Given the description of an element on the screen output the (x, y) to click on. 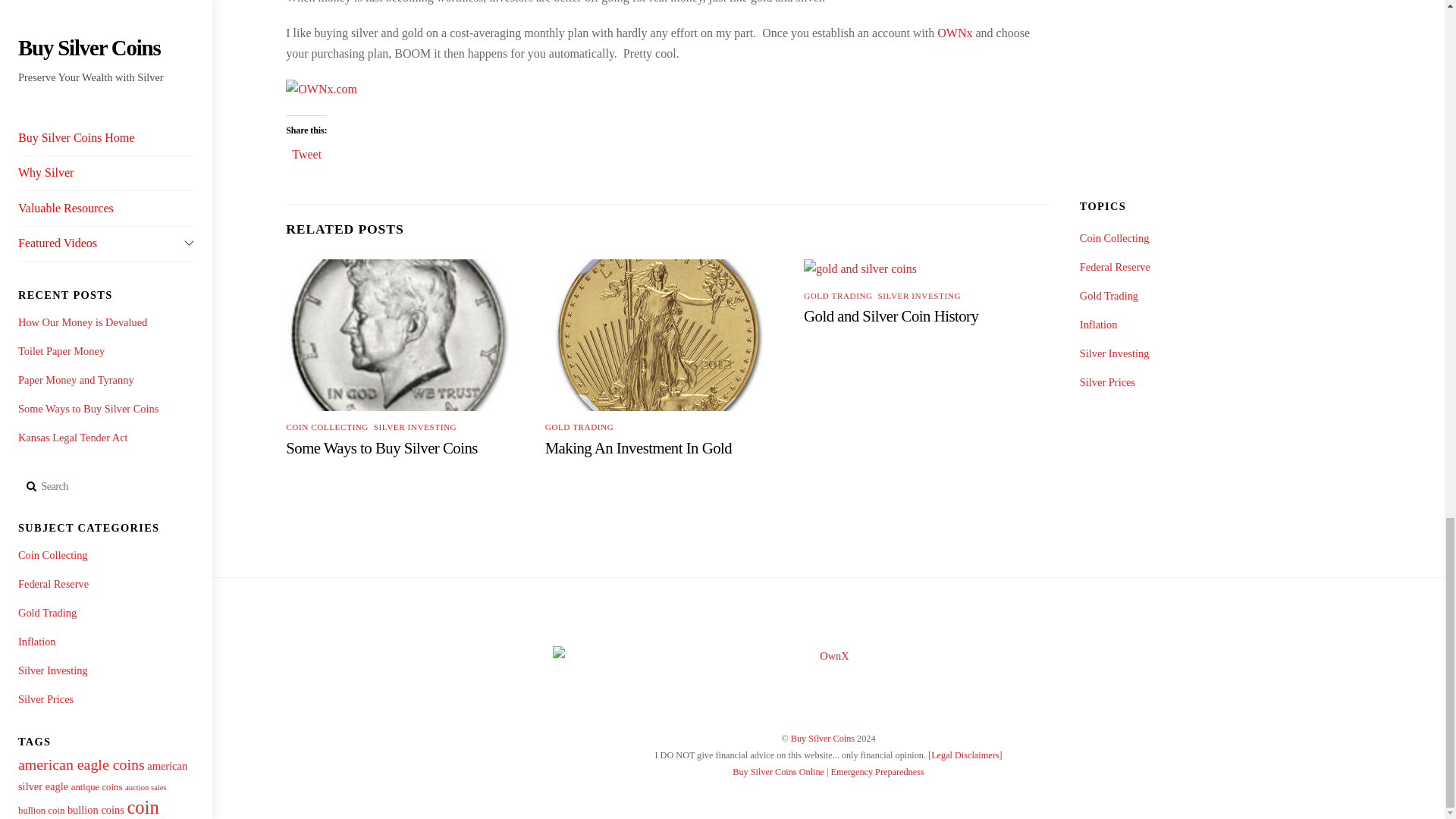
Some Ways to Buy Silver Coins (381, 447)
Gold and Silver Coin History (890, 315)
1964 Kennedy Half Dollar (399, 335)
gold-and-silver-coins (860, 269)
gold-eagle (658, 335)
Making An Investment In Gold (638, 447)
